Given the description of an element on the screen output the (x, y) to click on. 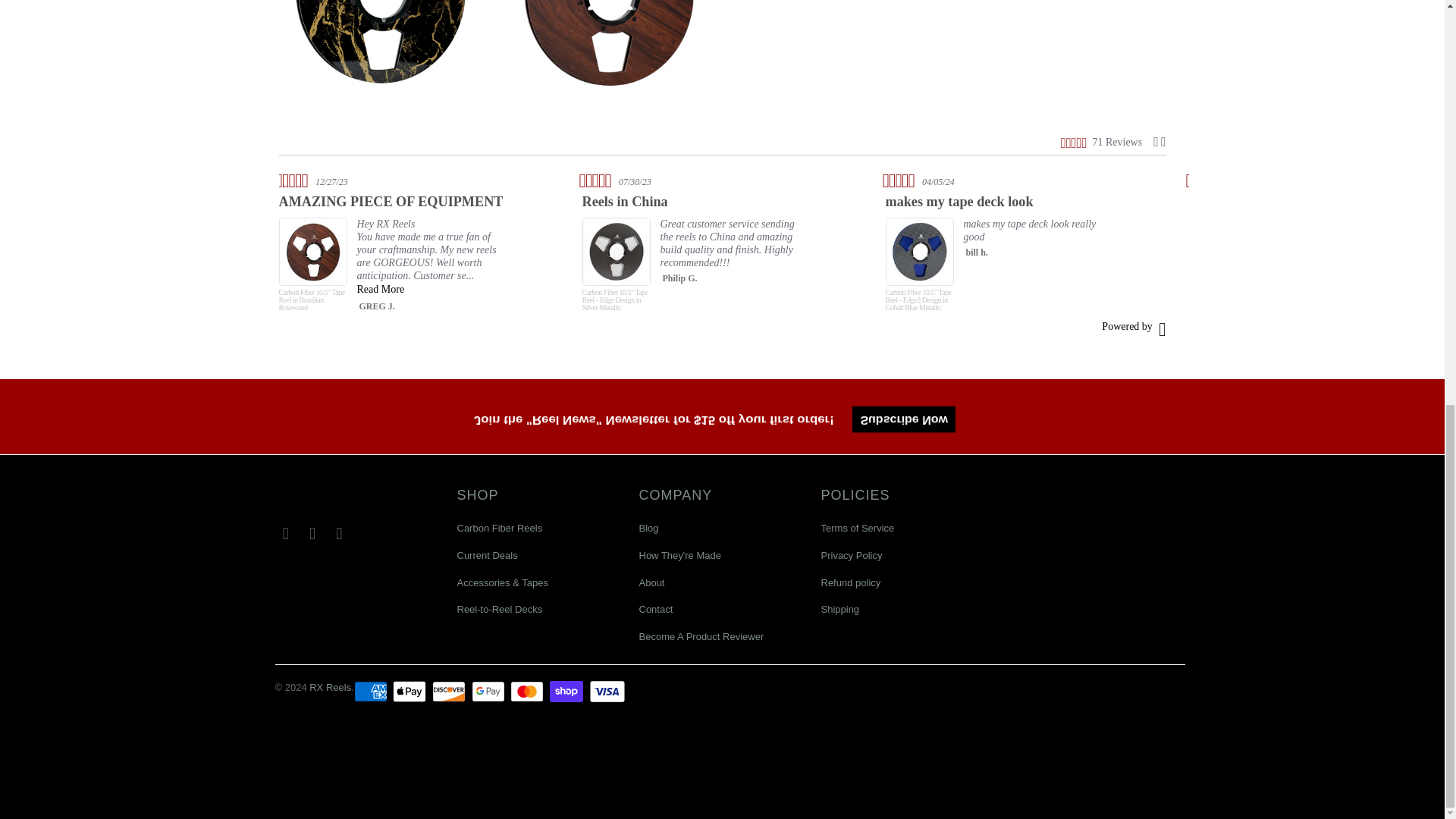
Apple Pay (411, 691)
Discover (450, 691)
RX Reels on Instagram (339, 533)
Mastercard (529, 691)
Visa (607, 691)
RX Reels on YouTube (312, 533)
RX Reels on Facebook (286, 533)
Google Pay (489, 691)
American Express (371, 691)
Shop Pay (568, 691)
